Given the description of an element on the screen output the (x, y) to click on. 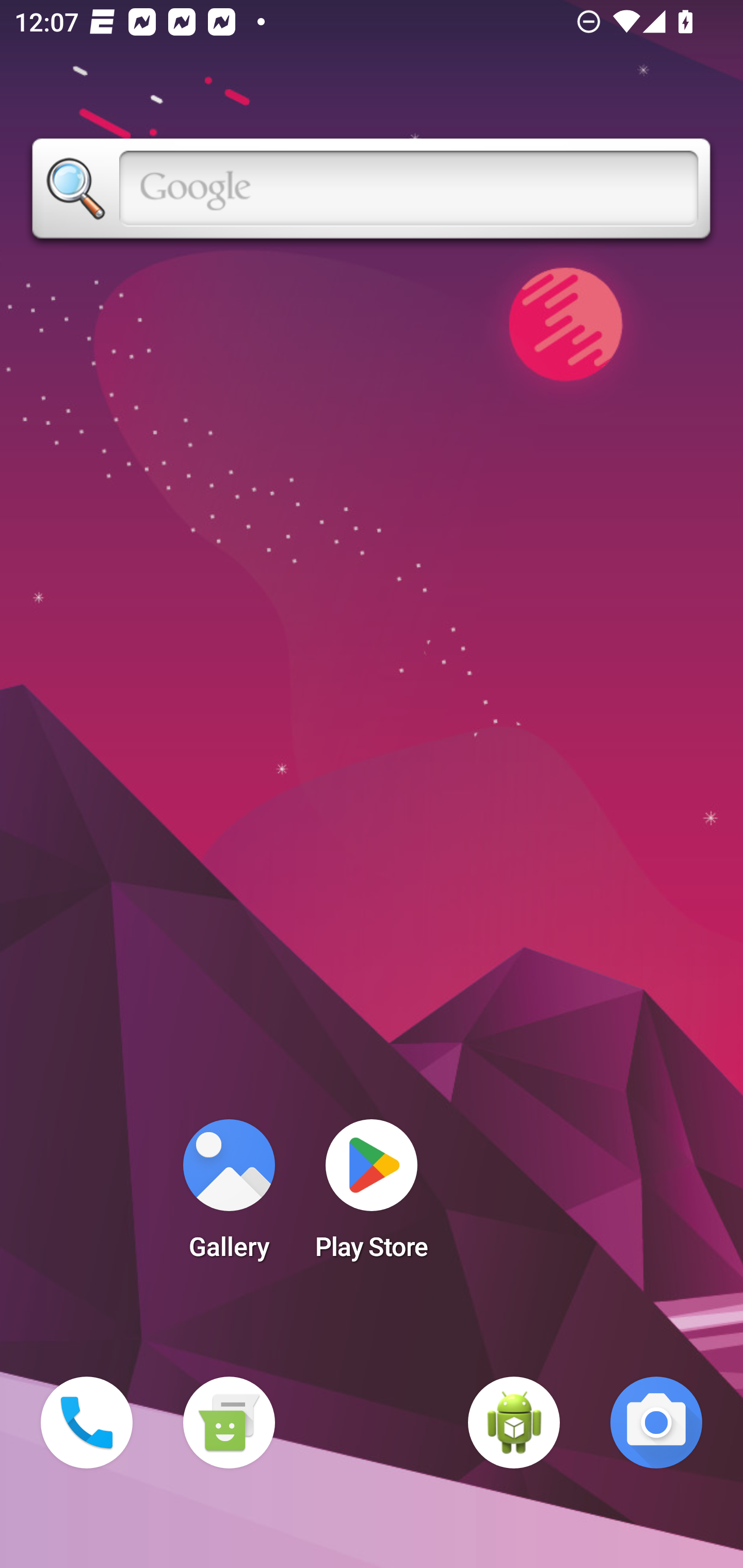
Gallery (228, 1195)
Play Store (371, 1195)
Phone (86, 1422)
Messaging (228, 1422)
WebView Browser Tester (513, 1422)
Camera (656, 1422)
